Given the description of an element on the screen output the (x, y) to click on. 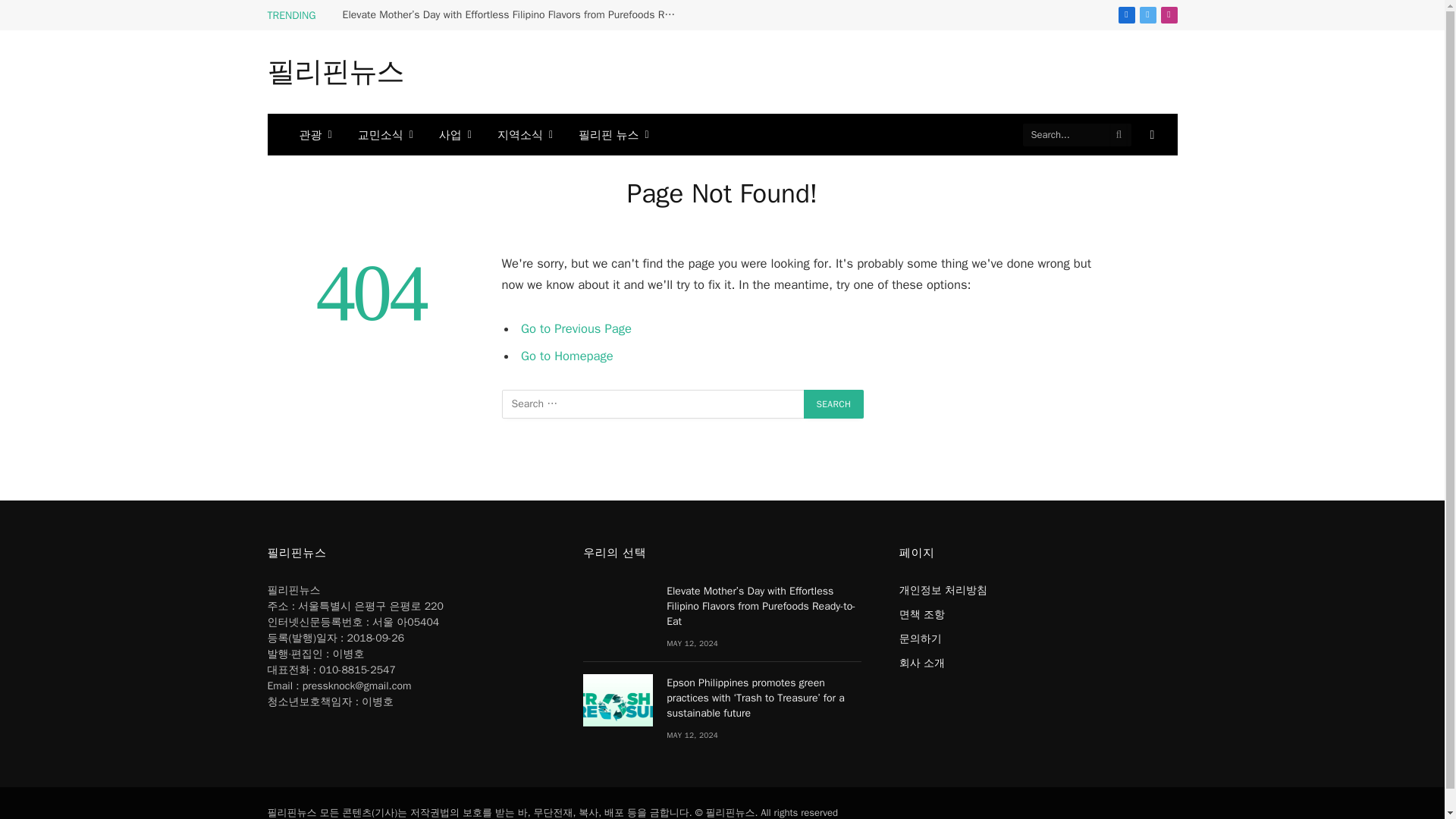
Instagram (1168, 14)
Search (833, 403)
Facebook (1126, 14)
Search (833, 403)
Switch to Dark Design - easier on eyes. (1149, 134)
